Given the description of an element on the screen output the (x, y) to click on. 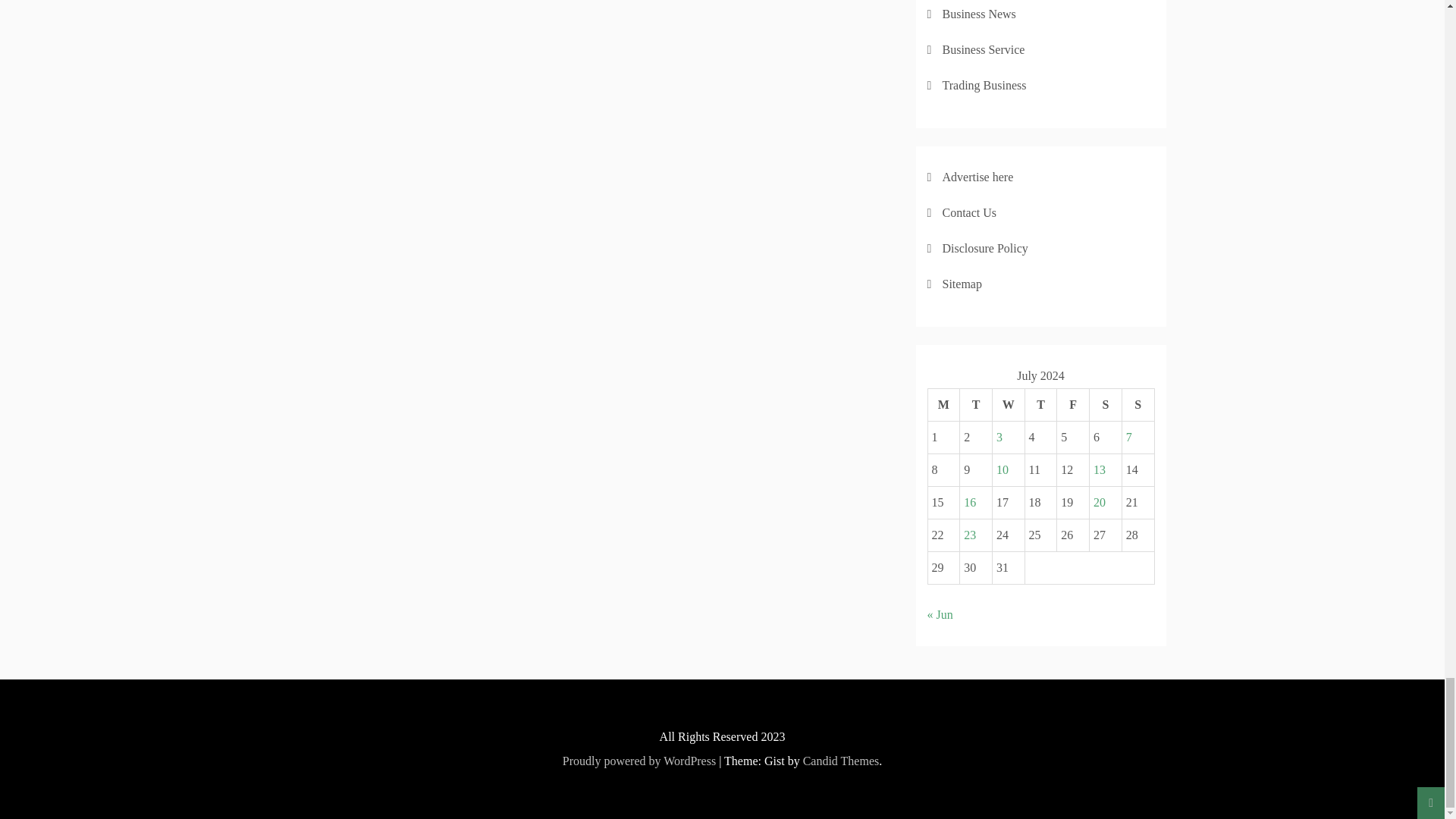
Friday (1073, 405)
Thursday (1041, 405)
Saturday (1105, 405)
Monday (943, 405)
Wednesday (1008, 405)
Sunday (1137, 405)
Tuesday (975, 405)
